Given the description of an element on the screen output the (x, y) to click on. 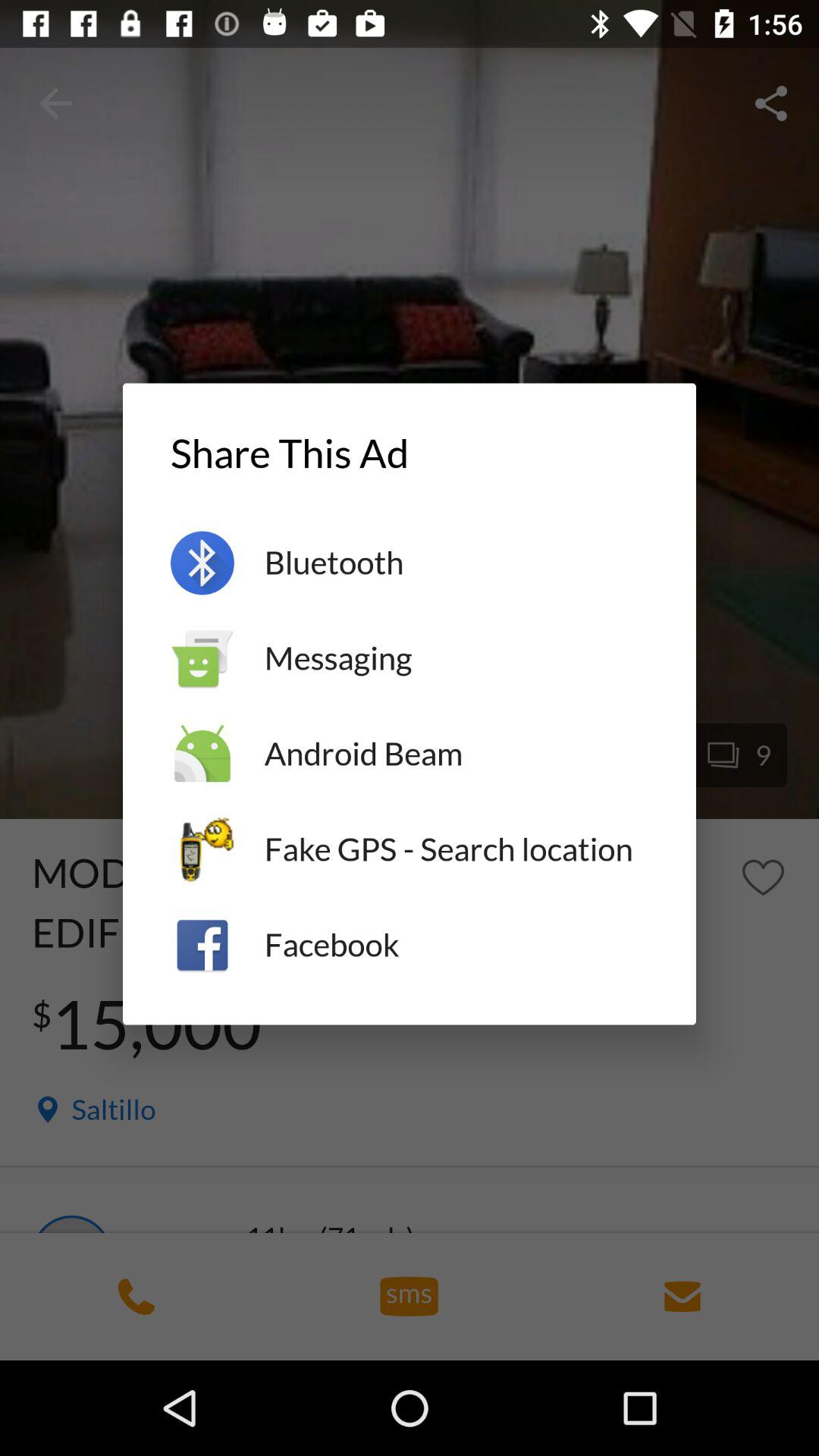
flip until android beam (456, 753)
